Given the description of an element on the screen output the (x, y) to click on. 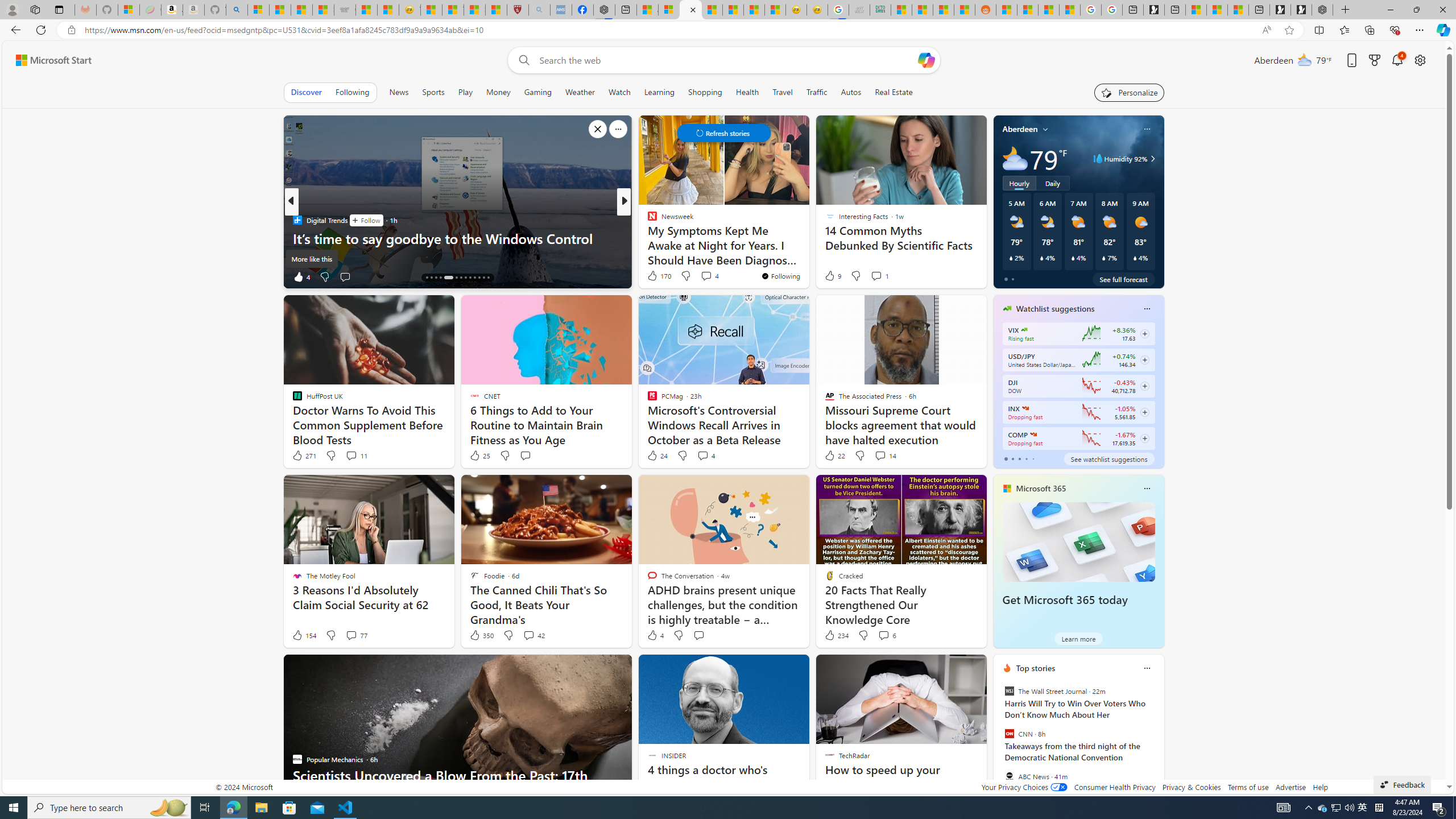
Pocket-lint (647, 238)
View comments 231 Comment (698, 276)
Class: follow-button  m (1144, 438)
Learn more (1078, 638)
Get Microsoft 365 today (1064, 600)
AutomationID: tab-25 (483, 277)
